Given the description of an element on the screen output the (x, y) to click on. 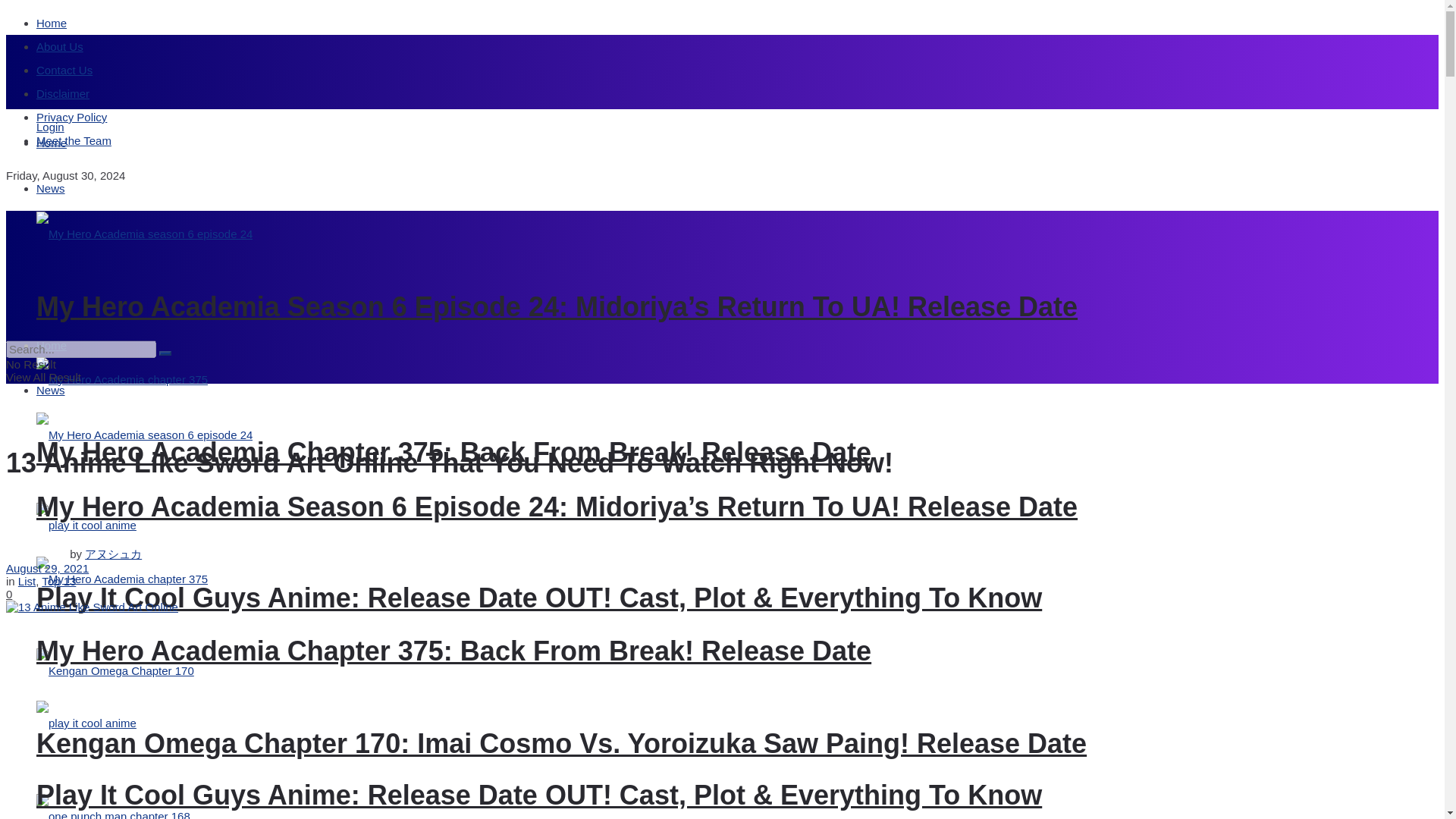
Home (51, 142)
Meet the Team (74, 140)
Home (51, 22)
Contact Us (64, 69)
My Hero Academia Chapter 375: Back From Break! Release Date (453, 451)
Login (50, 126)
About Us (59, 46)
Privacy Policy (71, 116)
News (50, 187)
